Given the description of an element on the screen output the (x, y) to click on. 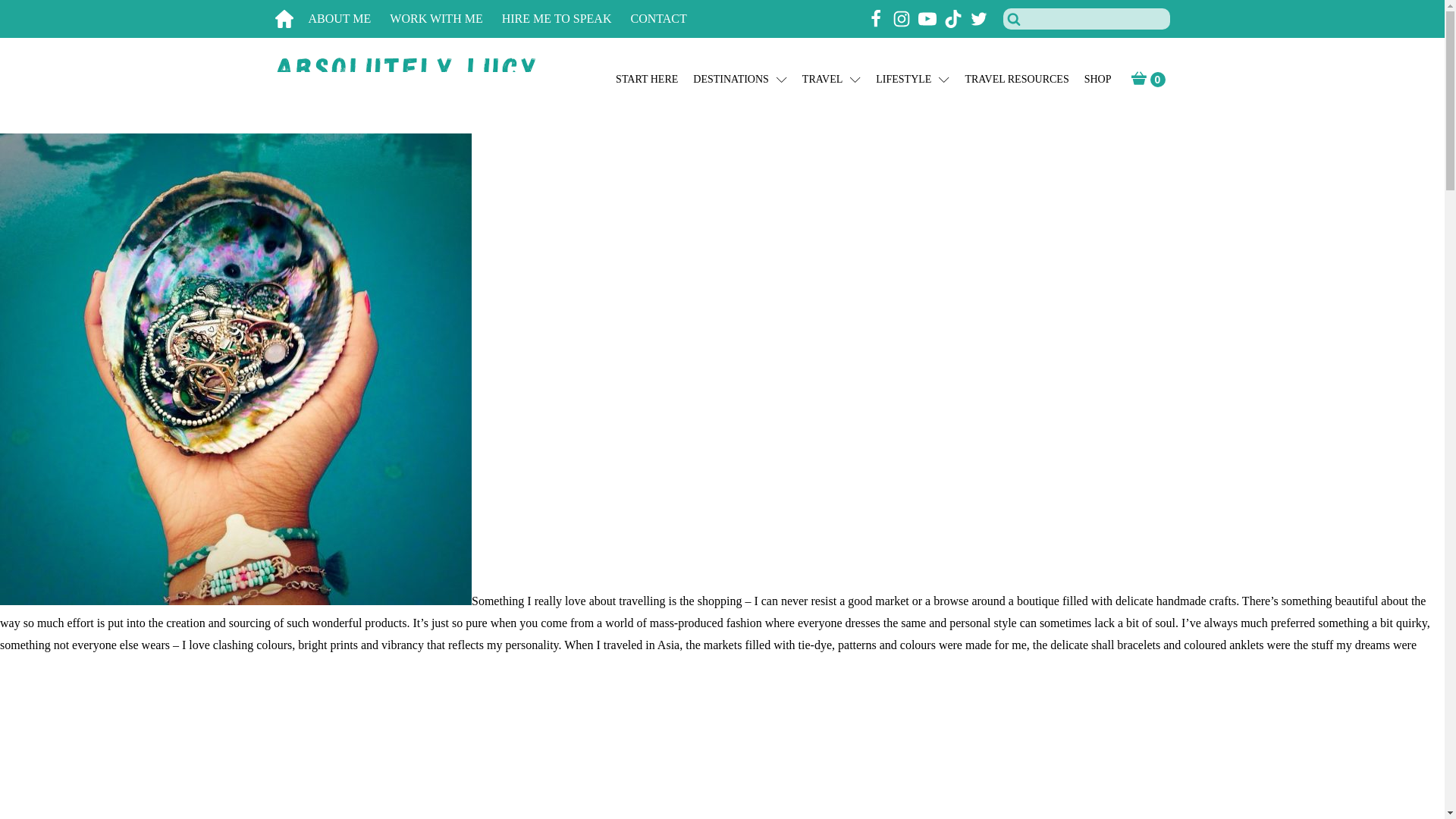
START HERE (646, 79)
TRAVEL (831, 79)
WORK WITH ME (445, 19)
LIFESTYLE (912, 79)
Search (31, 13)
ABOUT ME (348, 19)
HIRE ME TO SPEAK (566, 19)
SHOP (1098, 79)
TRAVEL RESOURCES (1015, 79)
CONTACT (667, 19)
DESTINATIONS (740, 79)
